Given the description of an element on the screen output the (x, y) to click on. 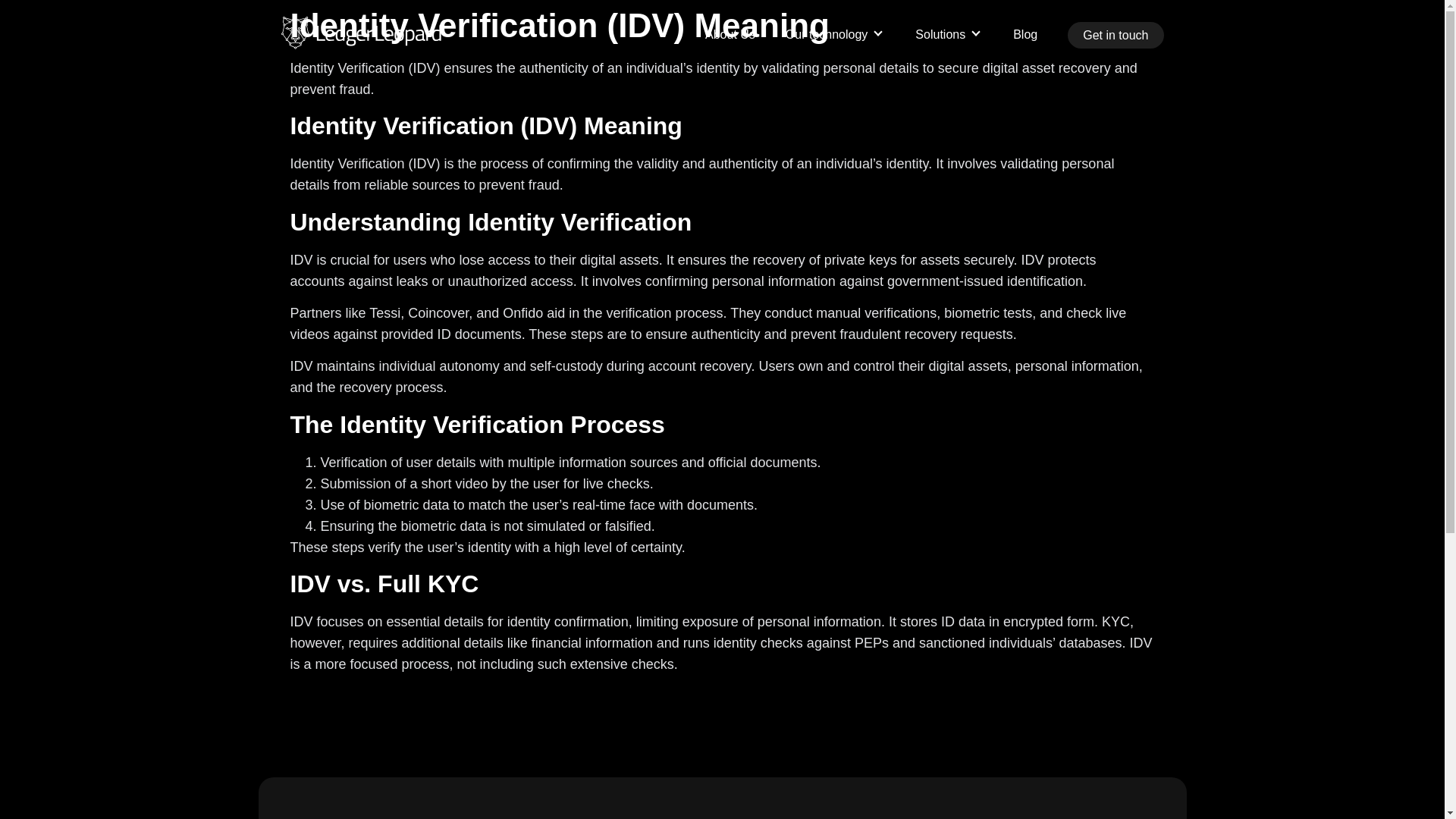
Our technology (835, 34)
About Us (729, 34)
Get in touch (1115, 35)
Solutions (948, 34)
Blog (1024, 34)
